Given the description of an element on the screen output the (x, y) to click on. 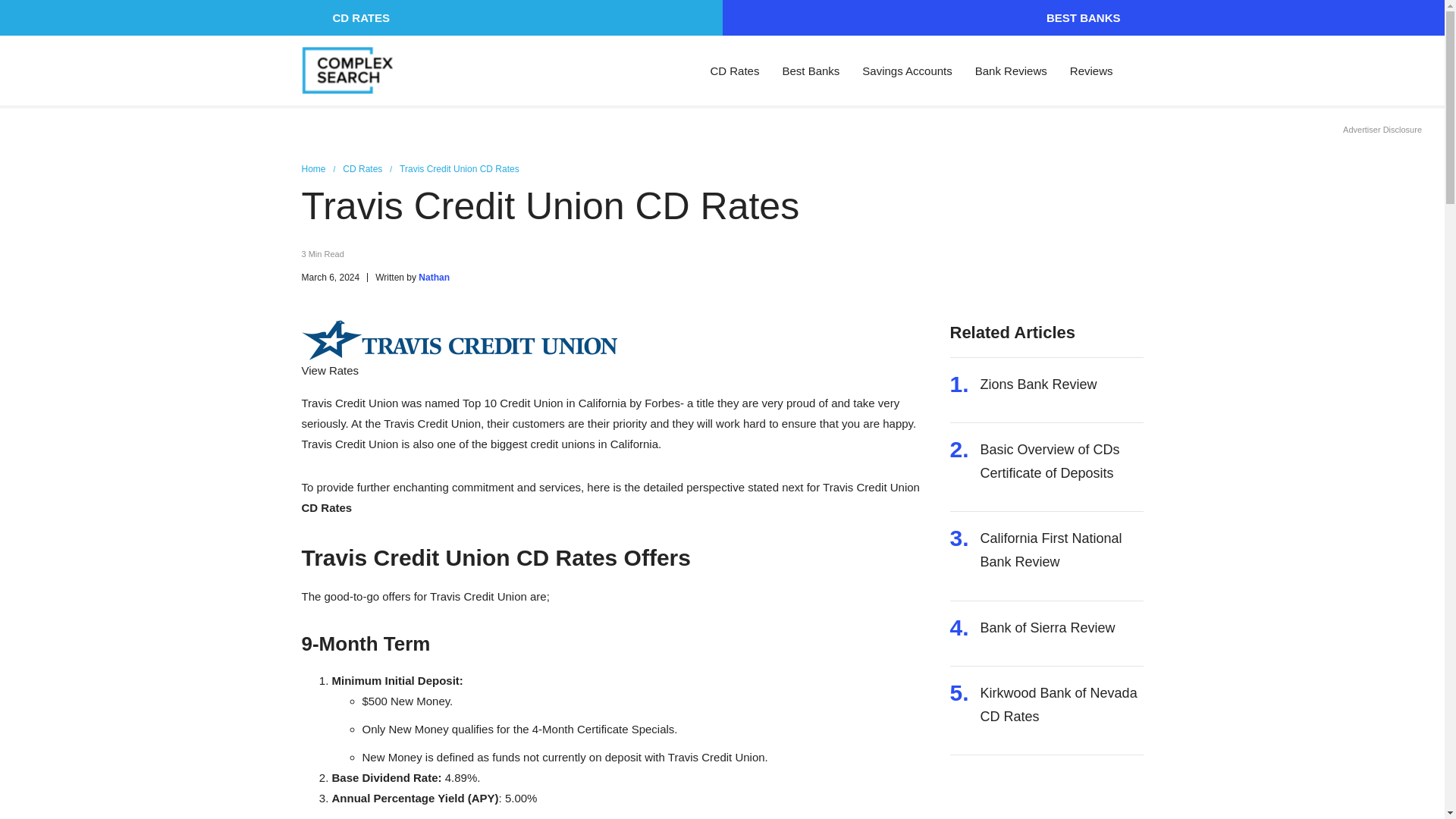
Zions Bank Review (1038, 384)
Home (322, 169)
Basic Overview of CDs Certificate of Deposits (1060, 461)
View Rates (330, 369)
Bank Reviews (1010, 69)
California First National Bank Review (1060, 550)
Kirkwood Bank of Nevada CD Rates (1060, 704)
Reviews (1091, 69)
CD Rates (734, 69)
Best Banks (810, 69)
CD Rates (370, 169)
CD RATES (361, 18)
Savings Accounts (906, 69)
Bank of Sierra Review (1047, 627)
CD Rates (326, 507)
